Given the description of an element on the screen output the (x, y) to click on. 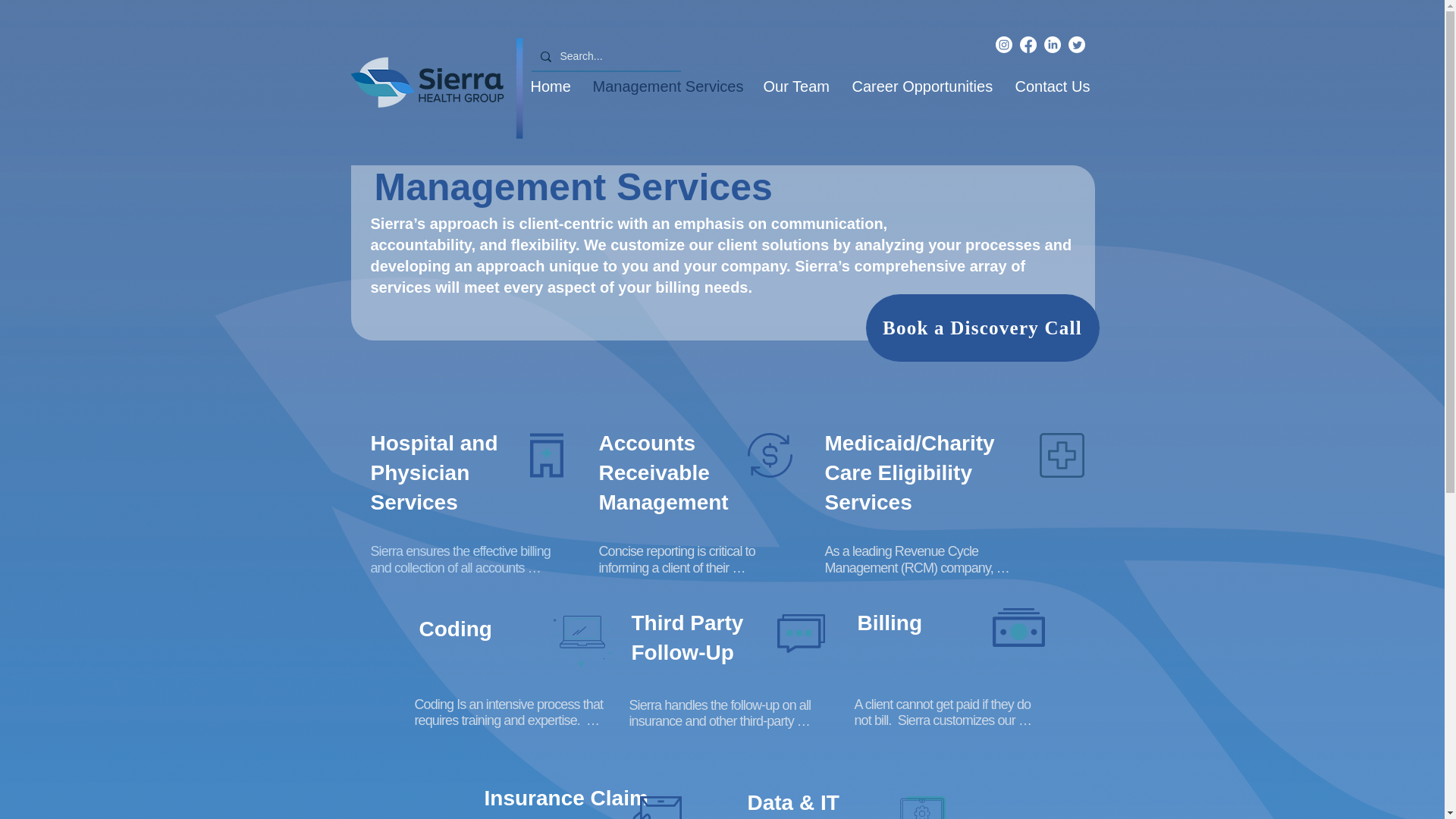
Management Services (665, 86)
Book a Discovery Call (982, 327)
Contact Us (1052, 86)
Our Team (796, 86)
Career Opportunities (921, 86)
Home (549, 86)
